Given the description of an element on the screen output the (x, y) to click on. 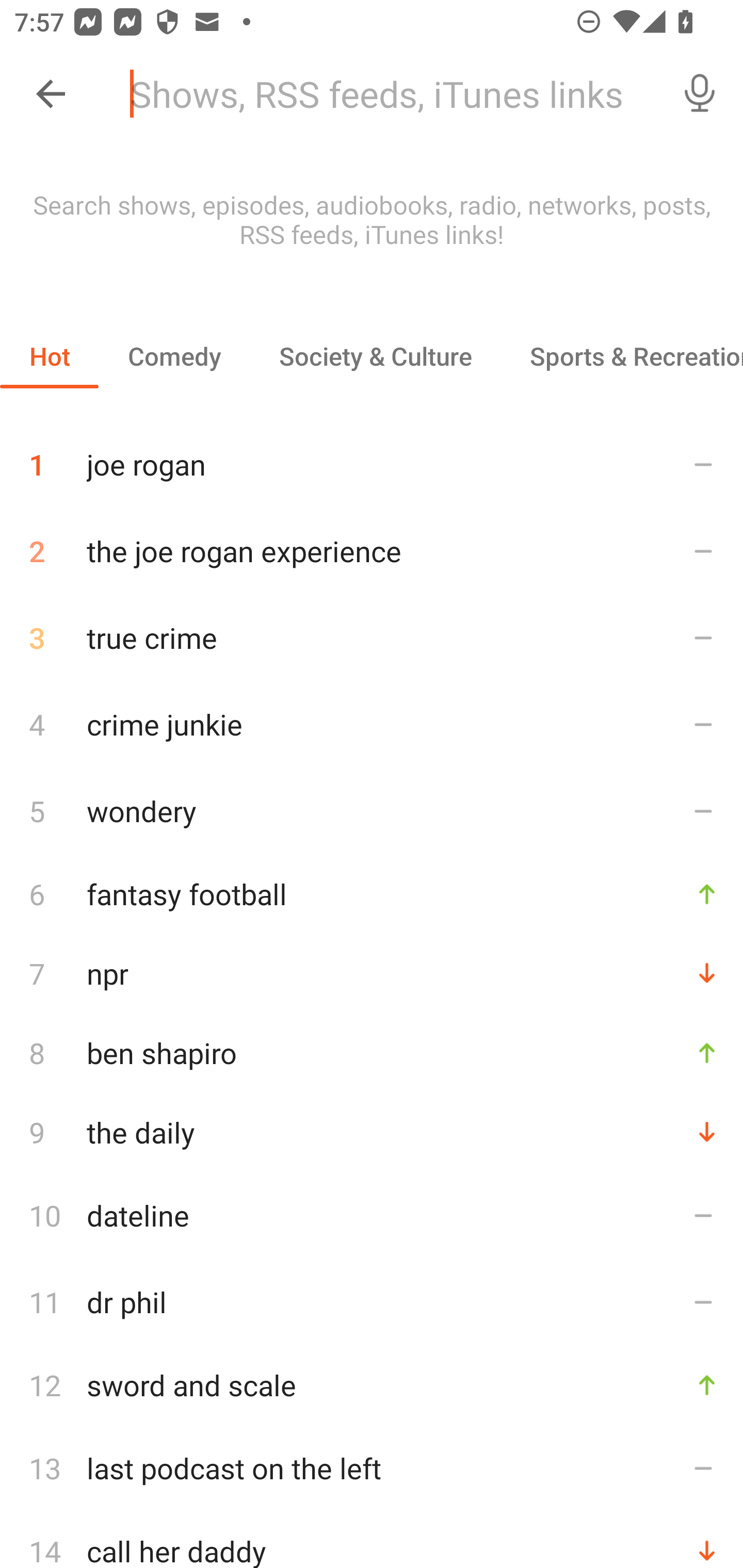
Collapse (50, 93)
Voice Search (699, 93)
Shows, RSS feeds, iTunes links (385, 94)
Hot (49, 355)
Comedy (173, 355)
Society & Culture (374, 355)
Sports & Recreation (621, 355)
1 joe rogan (371, 457)
2 the joe rogan experience (371, 551)
3 true crime (371, 637)
4 crime junkie (371, 723)
5 wondery (371, 810)
6 fantasy football (371, 893)
7 npr (371, 972)
8 ben shapiro (371, 1052)
9 the daily (371, 1131)
10 dateline (371, 1215)
11 dr phil (371, 1302)
12 sword and scale (371, 1385)
13 last podcast on the left (371, 1468)
